Given the description of an element on the screen output the (x, y) to click on. 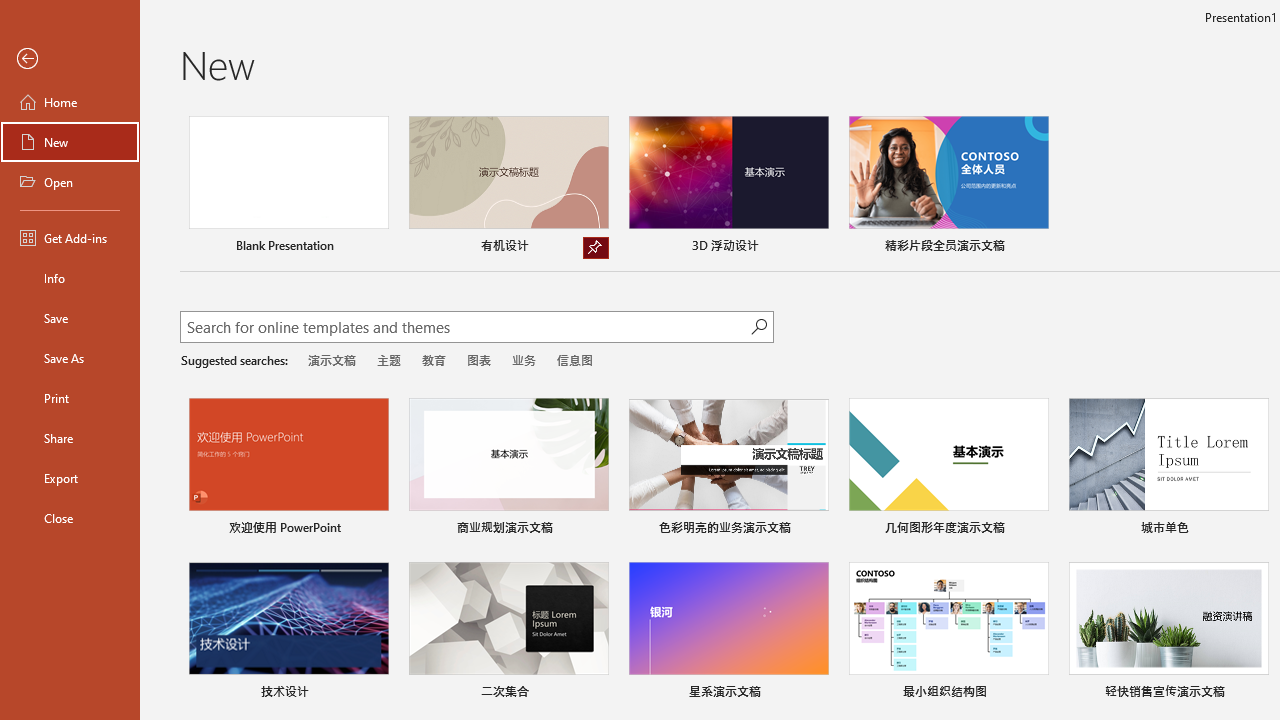
Back (69, 59)
Save As (69, 357)
Export (69, 477)
